Given the description of an element on the screen output the (x, y) to click on. 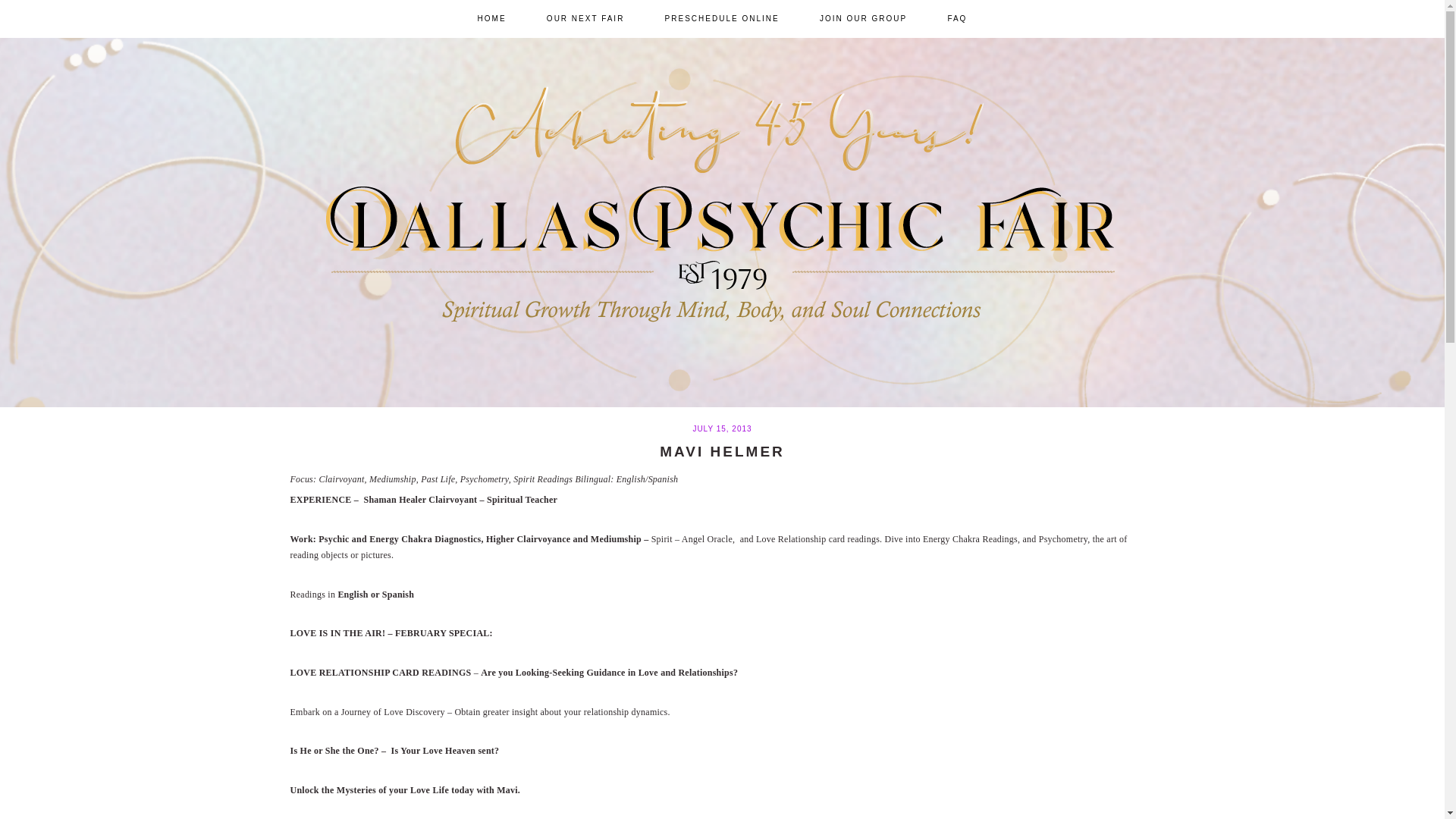
HOME (491, 18)
PRESCHEDULE ONLINE (721, 18)
JOIN OUR GROUP (863, 18)
FAQ (956, 18)
OUR NEXT FAIR (585, 18)
